Given the description of an element on the screen output the (x, y) to click on. 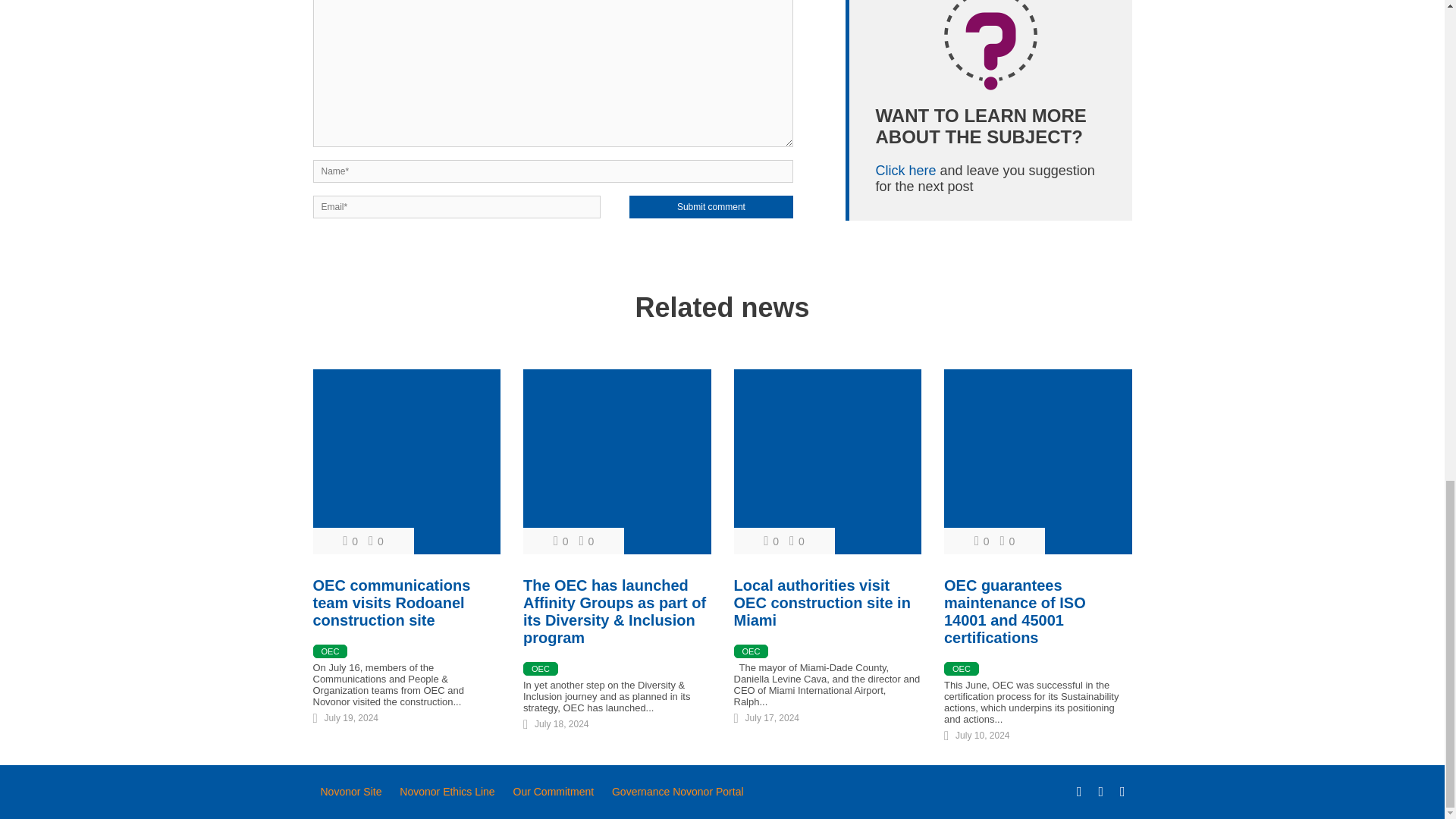
Submit comment (710, 206)
